Given the description of an element on the screen output the (x, y) to click on. 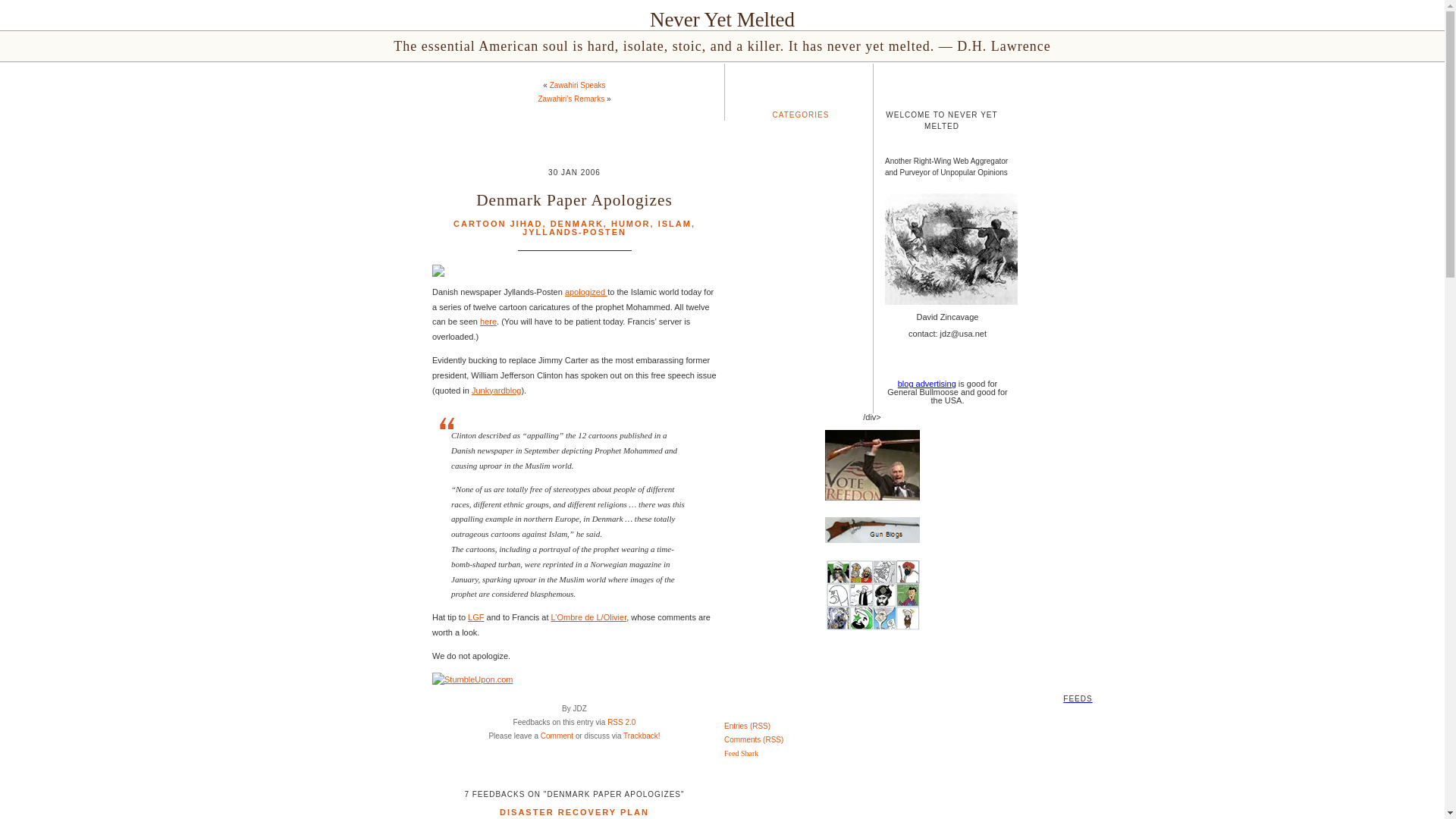
DISASTER RECOVERY PLAN (574, 811)
Junkyardblog (496, 389)
Zawahiri Speaks (577, 85)
HUMOR (630, 223)
Comment (556, 736)
Never Yet Melted (721, 19)
RSS 2.0 (620, 722)
DENMARK (577, 223)
JYLLANDS-POSTEN (574, 231)
here (488, 320)
apologized (585, 291)
Trackback (640, 736)
ISLAM (674, 223)
CATEGORIES (801, 114)
LGF (475, 616)
